Given the description of an element on the screen output the (x, y) to click on. 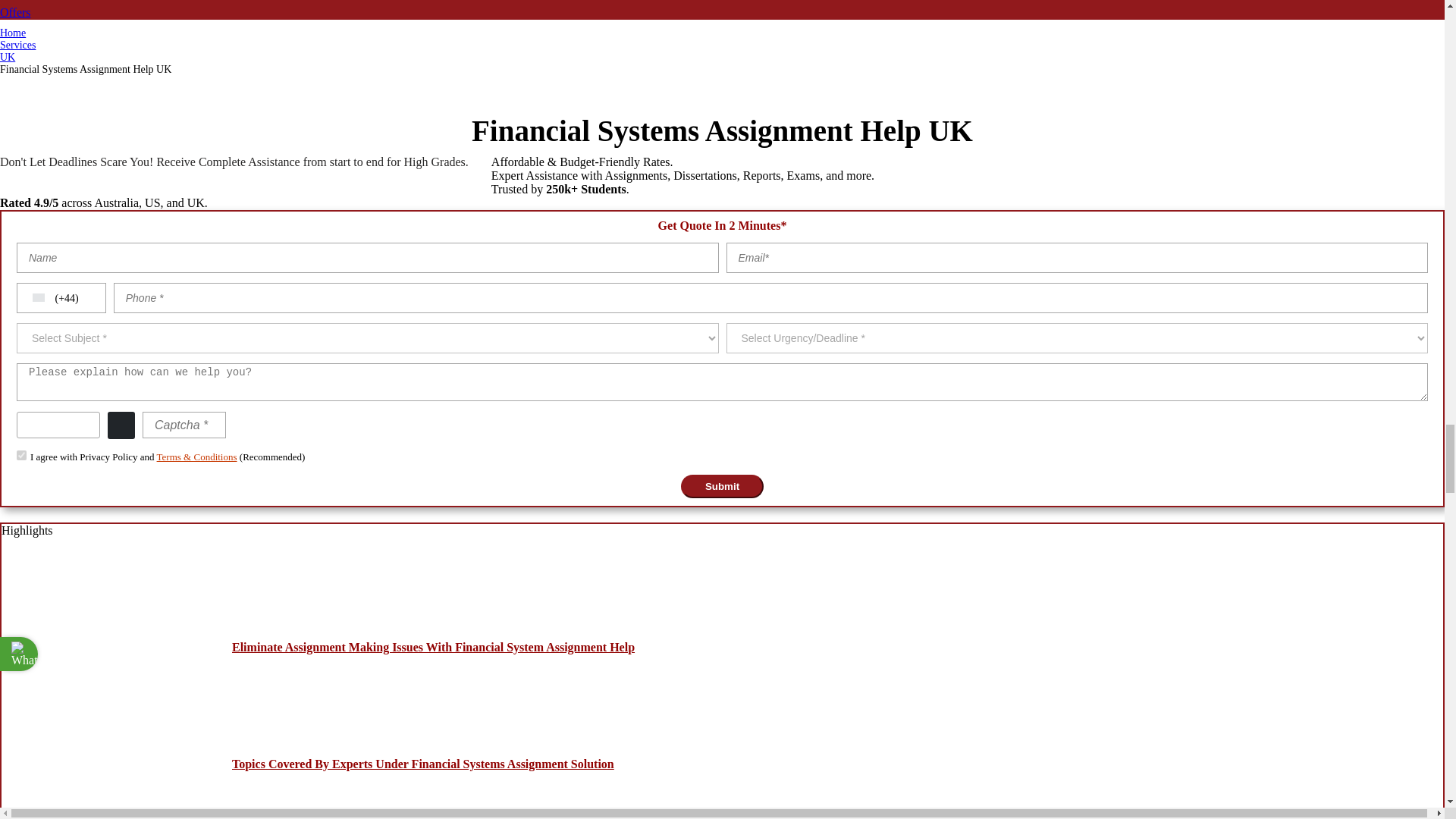
Order Now (113, 2)
on (21, 455)
